Given the description of an element on the screen output the (x, y) to click on. 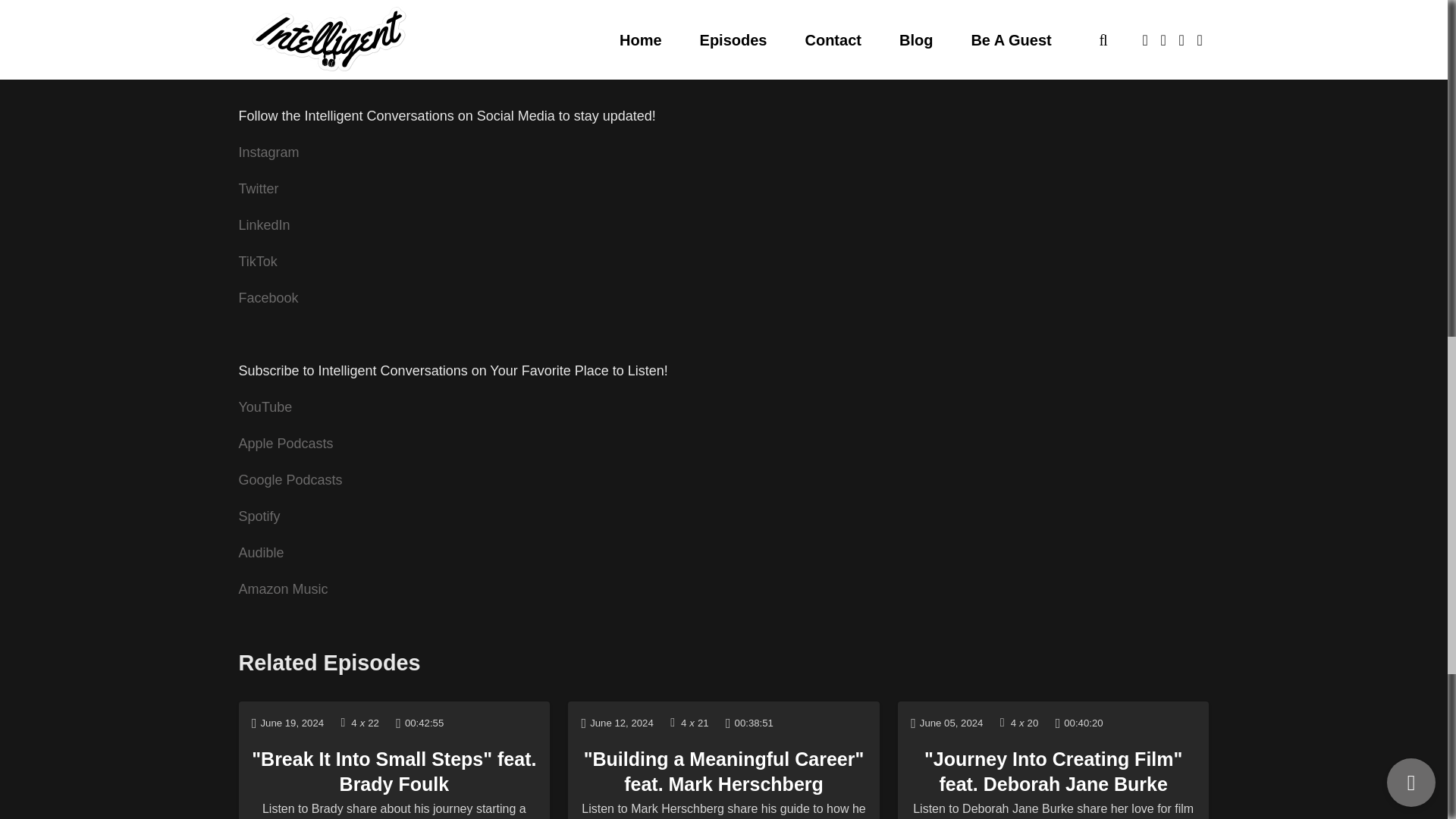
TikTok (461, 7)
Apple Podcasts (285, 443)
Twitter (258, 188)
Episode Duration (420, 722)
Facebook (403, 7)
Episode Duration (749, 722)
LinkedIn (263, 224)
Cringe Forward Podcast (704, 43)
Date (287, 722)
Audible (260, 552)
YouTube (470, 43)
Date (616, 722)
Instagram (517, 7)
LinkedIn (582, 7)
YouTube (265, 406)
